Given the description of an element on the screen output the (x, y) to click on. 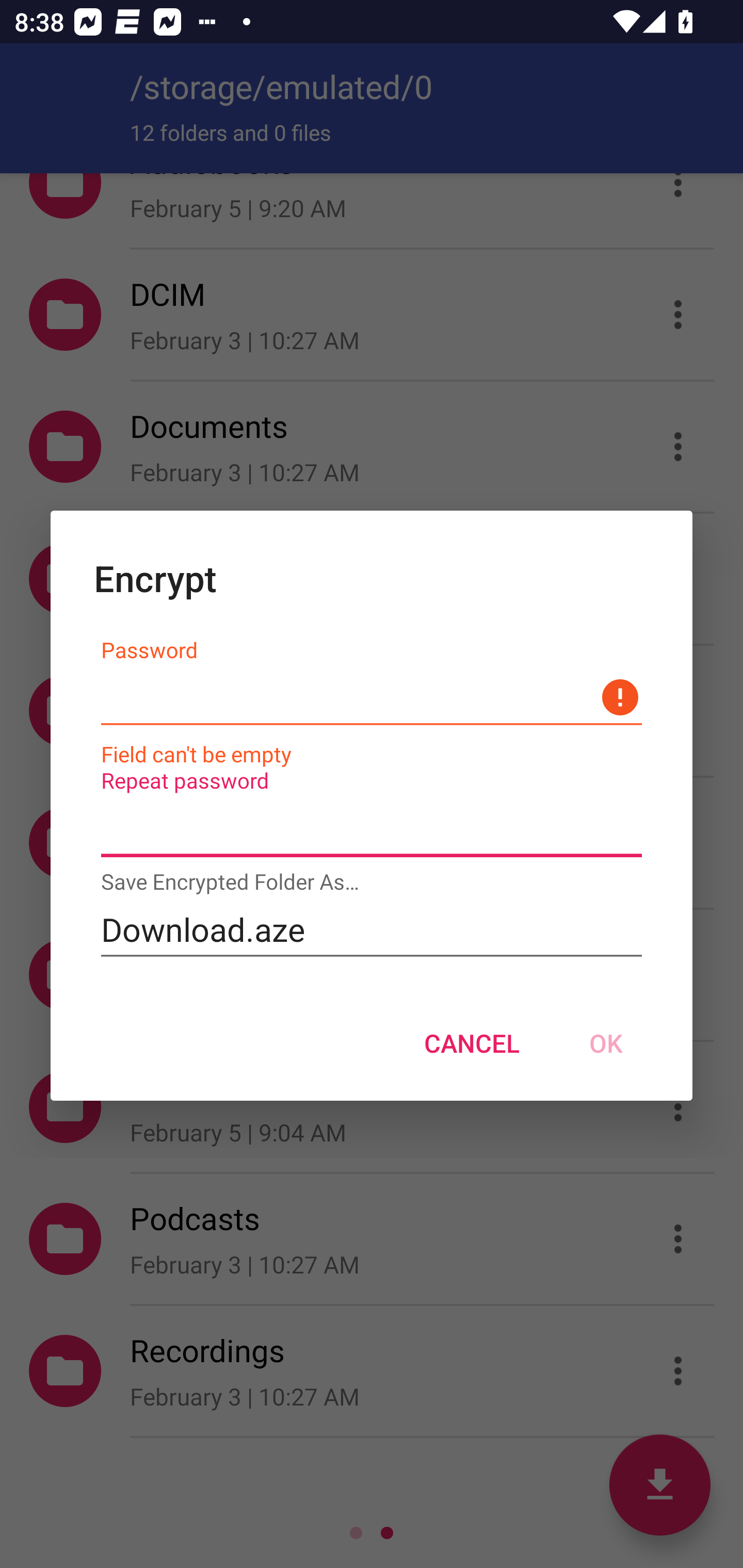
Password (371, 697)
Repeat password (371, 829)
Download.aze (371, 929)
CANCEL (470, 1043)
OK (605, 1043)
